Given the description of an element on the screen output the (x, y) to click on. 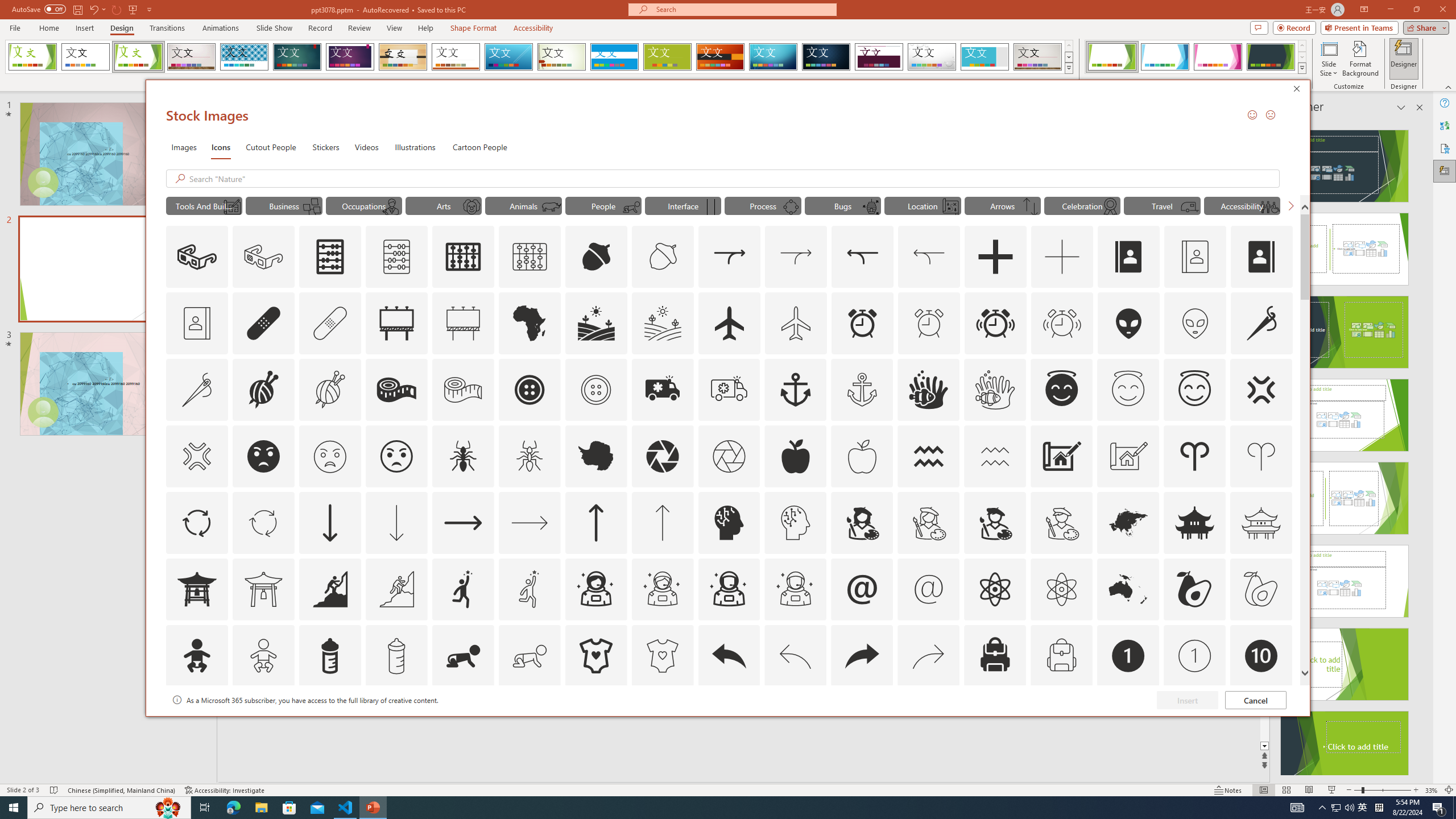
AutomationID: Icons_Atom_M (1061, 588)
AutomationID: Icons_BabyBottle_M (395, 655)
AutomationID: Icons_Blueprint_M (231, 206)
AutomationID: Icons_Apple (795, 455)
AutomationID: Icons_AstronautMale (729, 588)
AutomationID: Icons_AngryFace_Outline (395, 455)
Slice (508, 56)
